Given the description of an element on the screen output the (x, y) to click on. 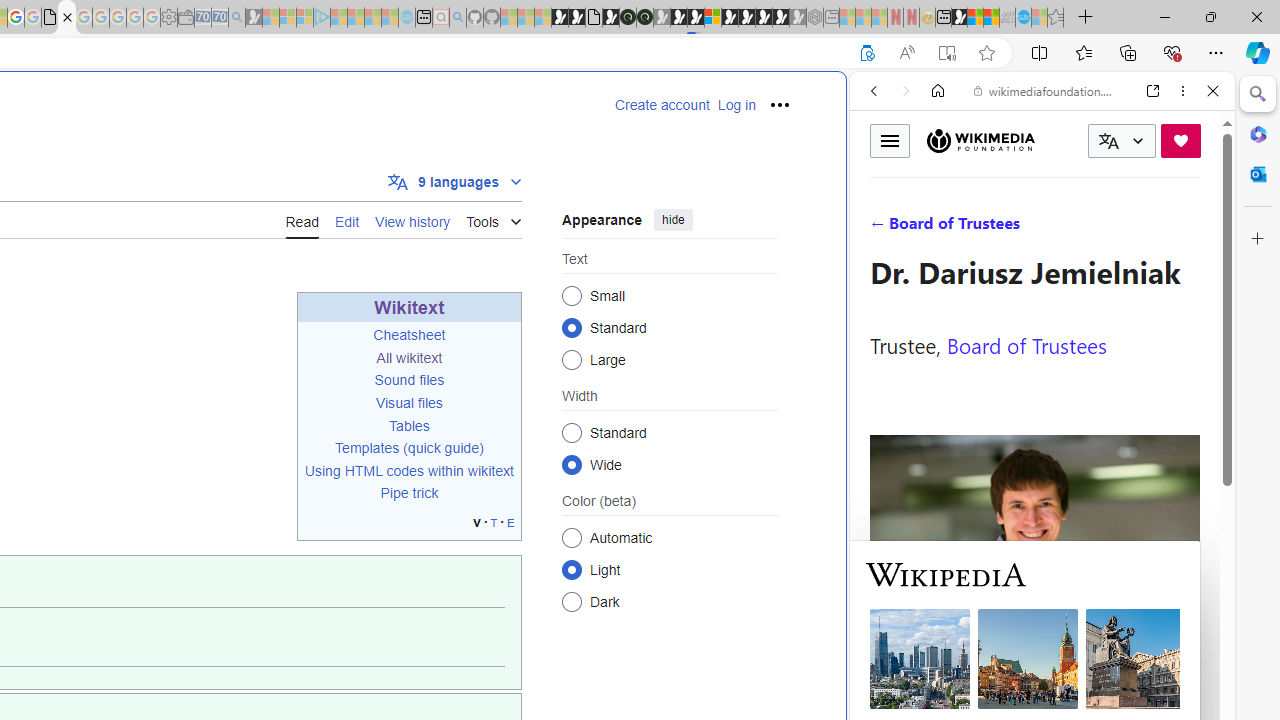
wikimediafoundation.org (1045, 90)
